Given the description of an element on the screen output the (x, y) to click on. 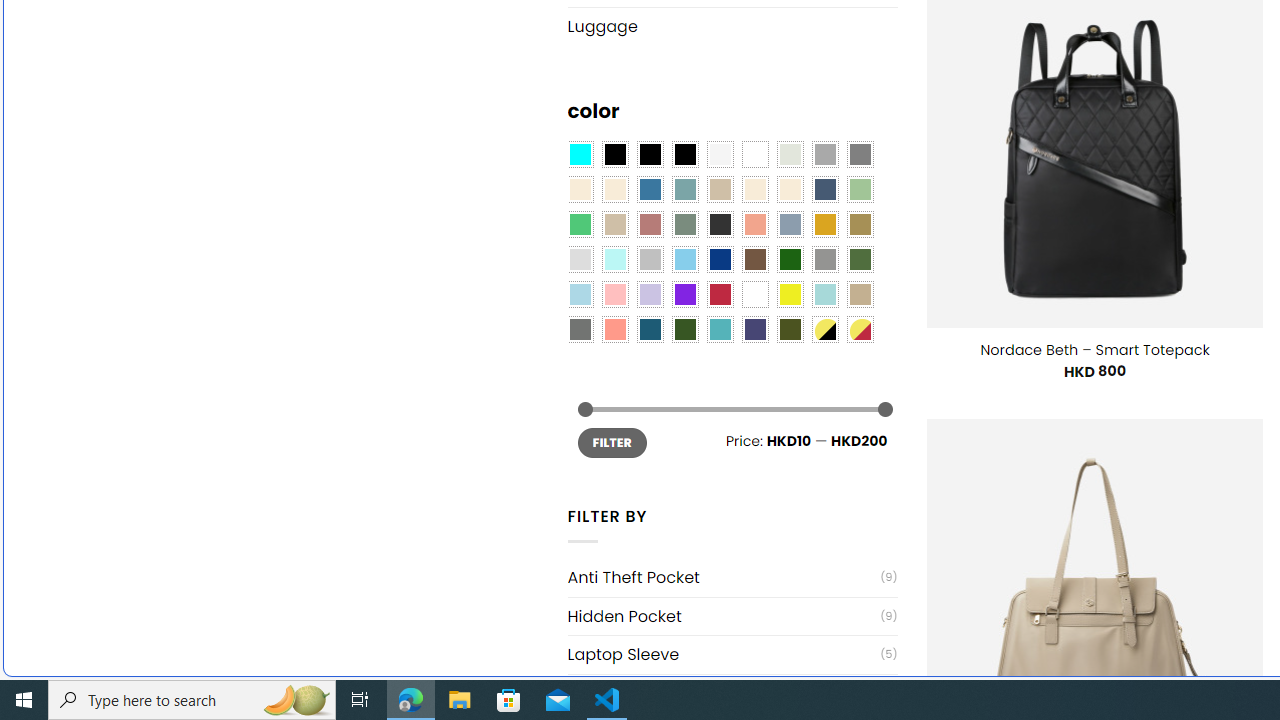
Rose (650, 224)
Gold (824, 224)
Blue (650, 190)
Army Green (789, 329)
Anti Theft Pocket (723, 577)
Yellow-Red (859, 329)
Pearly White (719, 154)
Teal (719, 329)
Aqua (824, 295)
Coral (755, 224)
Beige (579, 190)
Khaki (859, 295)
Cream (789, 190)
Charcoal (719, 224)
Capri Blue (650, 329)
